Given the description of an element on the screen output the (x, y) to click on. 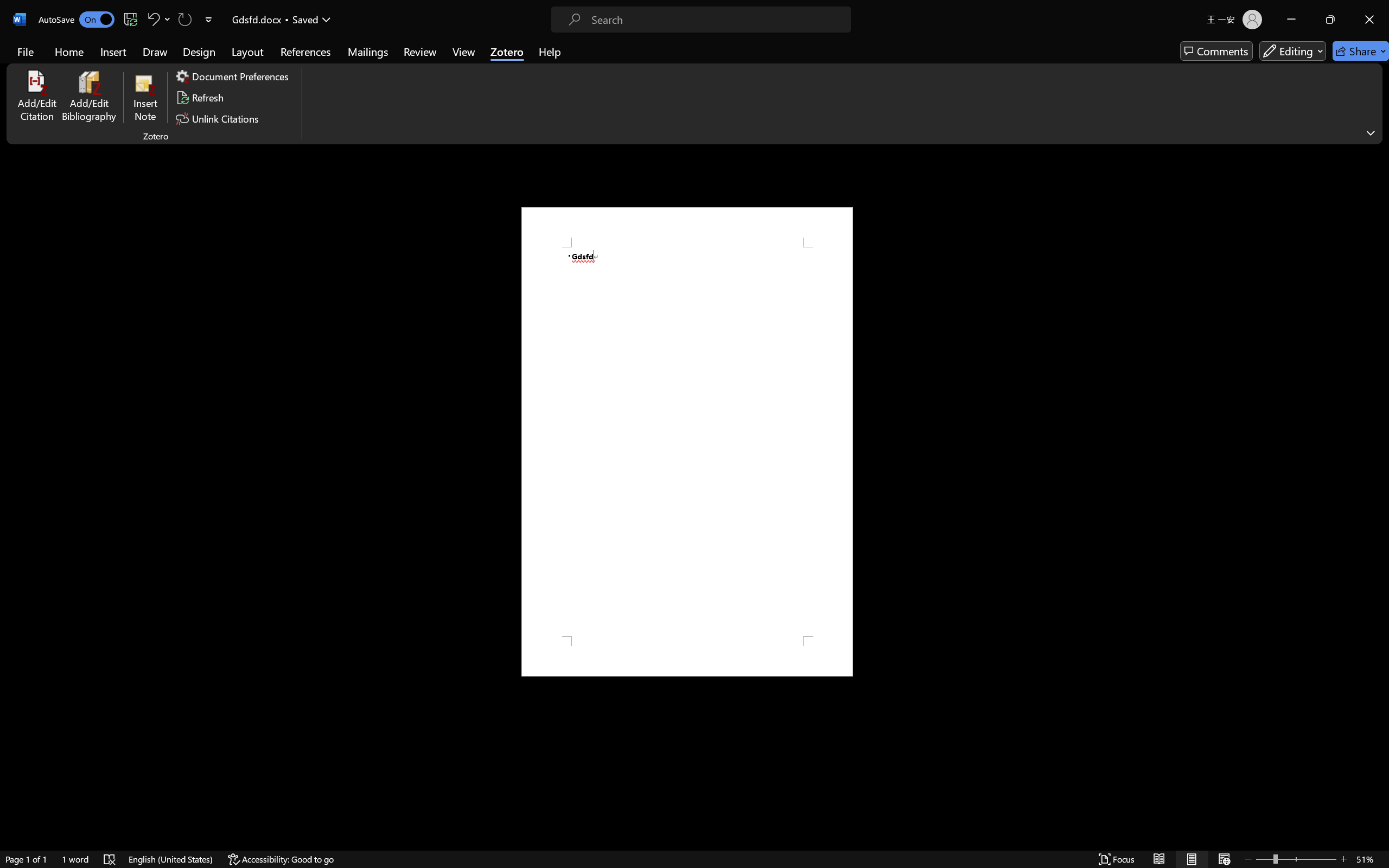
Page 1 content (686, 441)
